Given the description of an element on the screen output the (x, y) to click on. 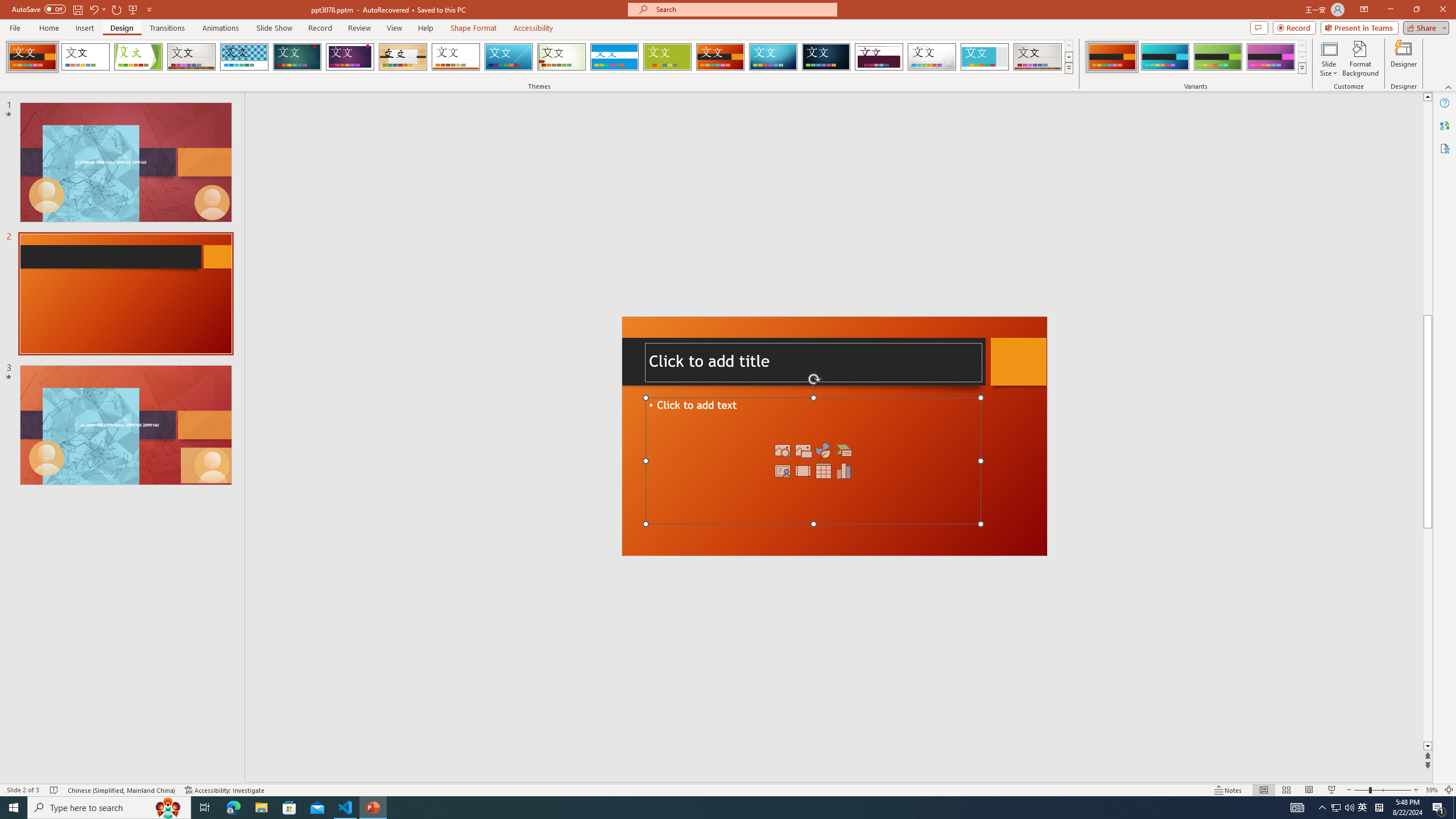
Title TextBox (813, 362)
Office Theme (85, 56)
Insert a SmartArt Graphic (843, 450)
Content Placeholder (812, 461)
Integral (244, 56)
Insert an Icon (822, 450)
Ion Boardroom (350, 56)
Berlin Variant 2 (1164, 56)
